Given the description of an element on the screen output the (x, y) to click on. 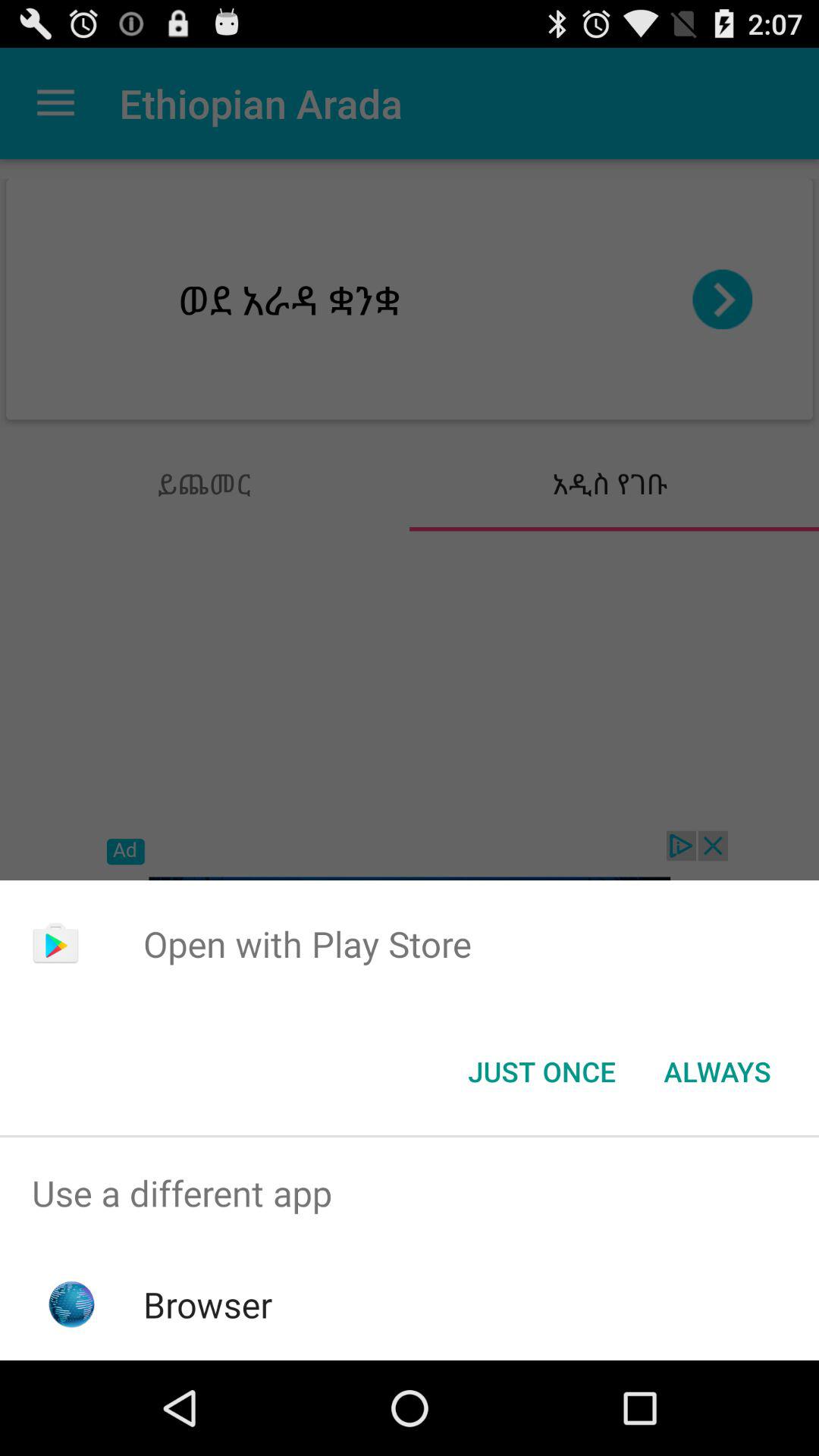
turn off just once item (541, 1071)
